Given the description of an element on the screen output the (x, y) to click on. 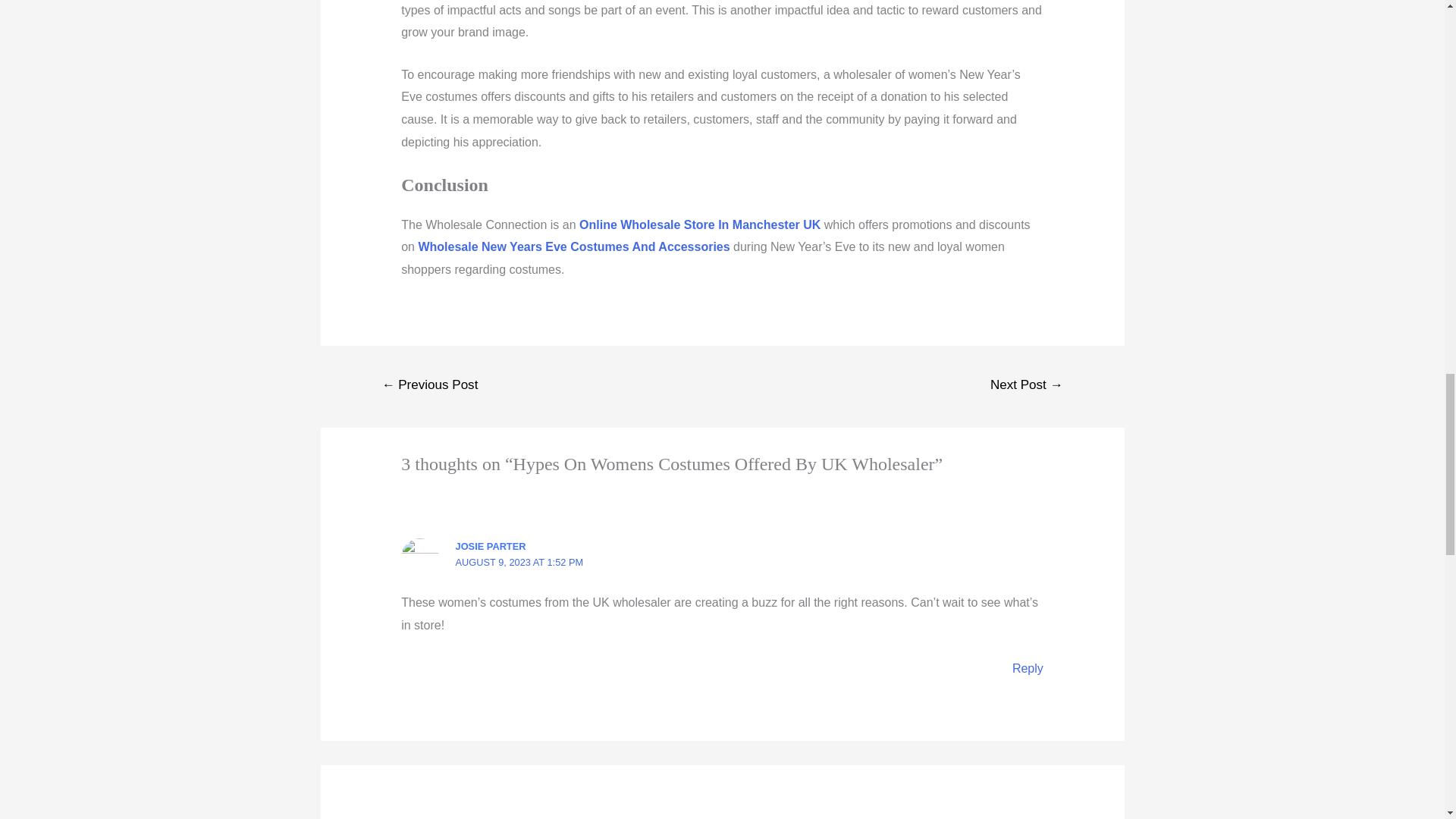
Reply (1027, 667)
AUGUST 9, 2023 AT 1:52 PM (519, 562)
Online Wholesale Store In Manchester UK (700, 224)
Wholesale New Years Eve Costumes And Accessories (573, 246)
